Given the description of an element on the screen output the (x, y) to click on. 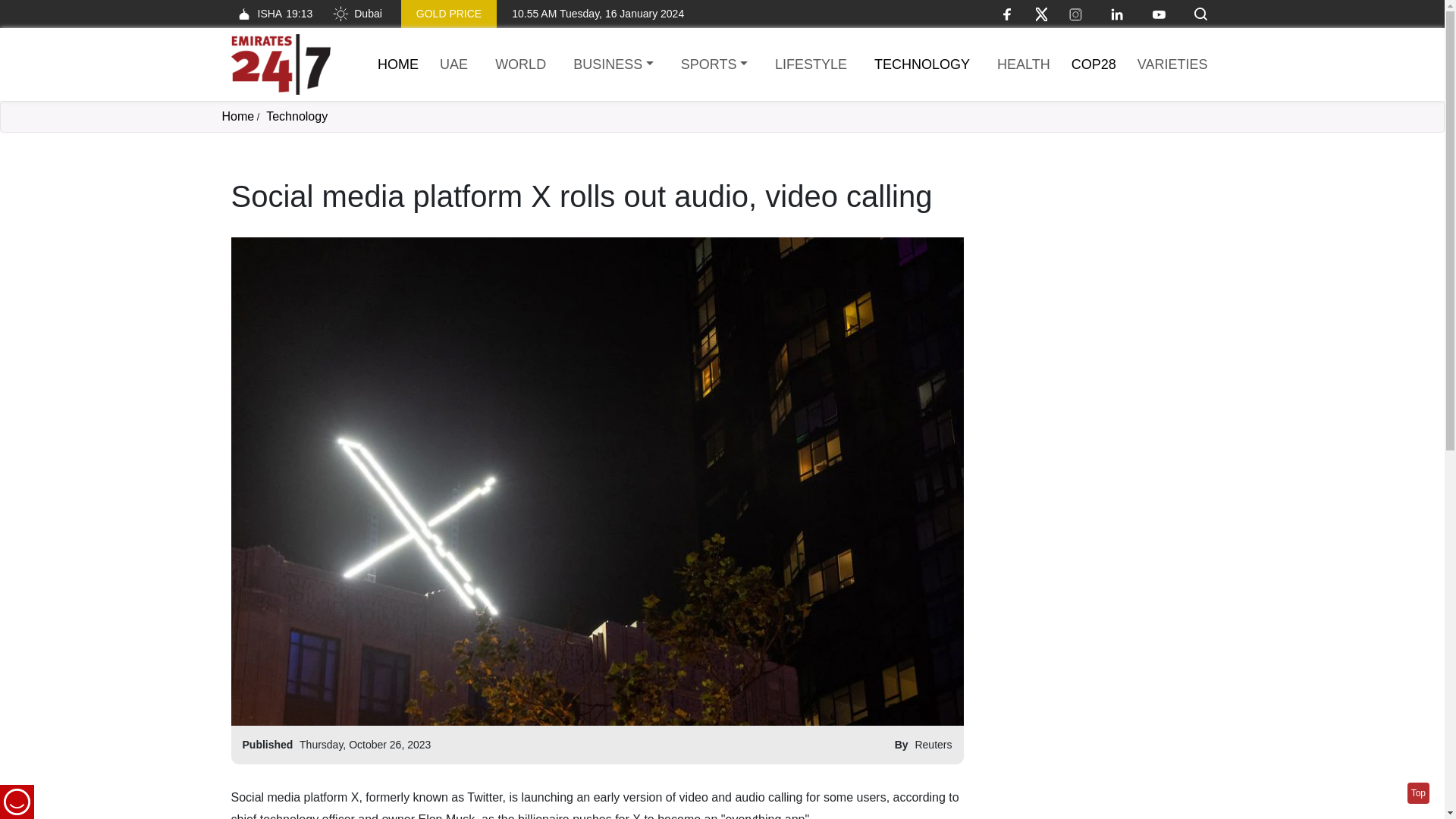
BUSINESS (613, 64)
COP28 (1093, 63)
Dubai (356, 13)
Home (237, 115)
COP28 (1093, 63)
HEALTH (1024, 64)
WORLD (520, 64)
Home (280, 64)
HOME (398, 63)
TECHNOLOGY (921, 64)
